Given the description of an element on the screen output the (x, y) to click on. 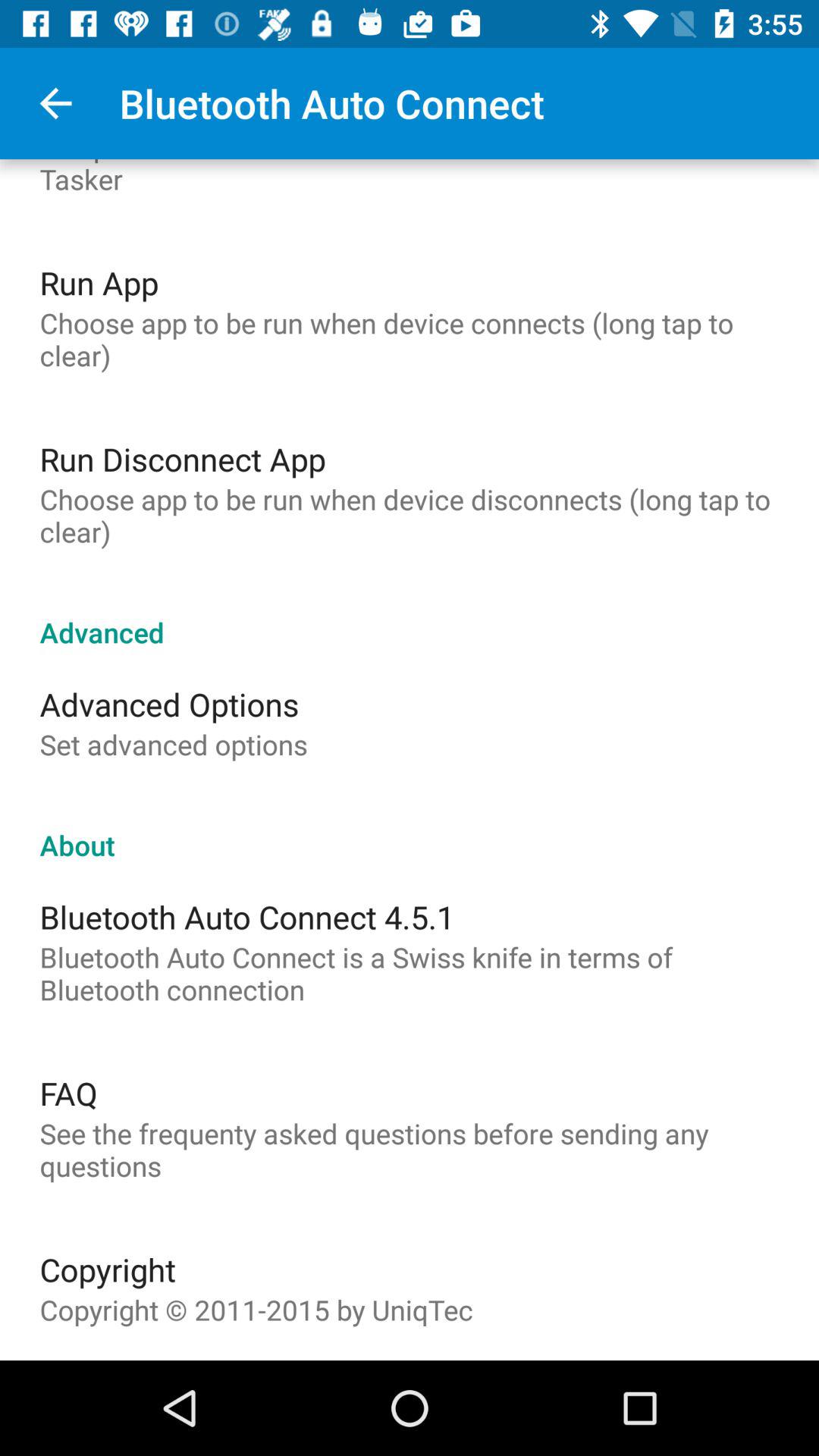
launch icon above the see the frequenty item (68, 1092)
